Given the description of an element on the screen output the (x, y) to click on. 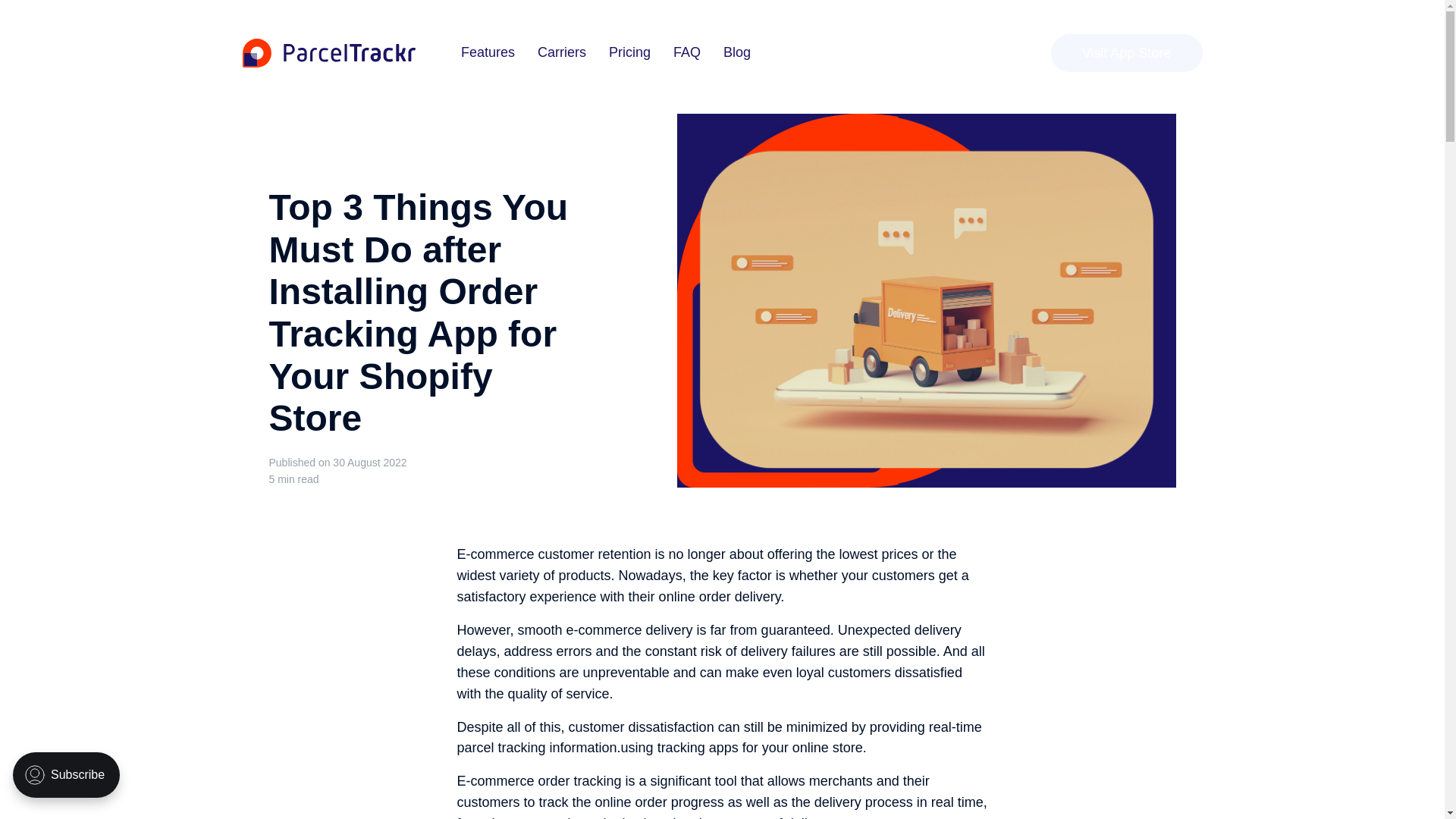
FAQ (686, 53)
Carriers (561, 53)
FAQ (686, 53)
Visit App Store (1126, 53)
Blog (737, 53)
Visit App Store (1126, 53)
Features (487, 53)
Pricing (629, 53)
Trackr (328, 53)
Blog (737, 53)
